Given the description of an element on the screen output the (x, y) to click on. 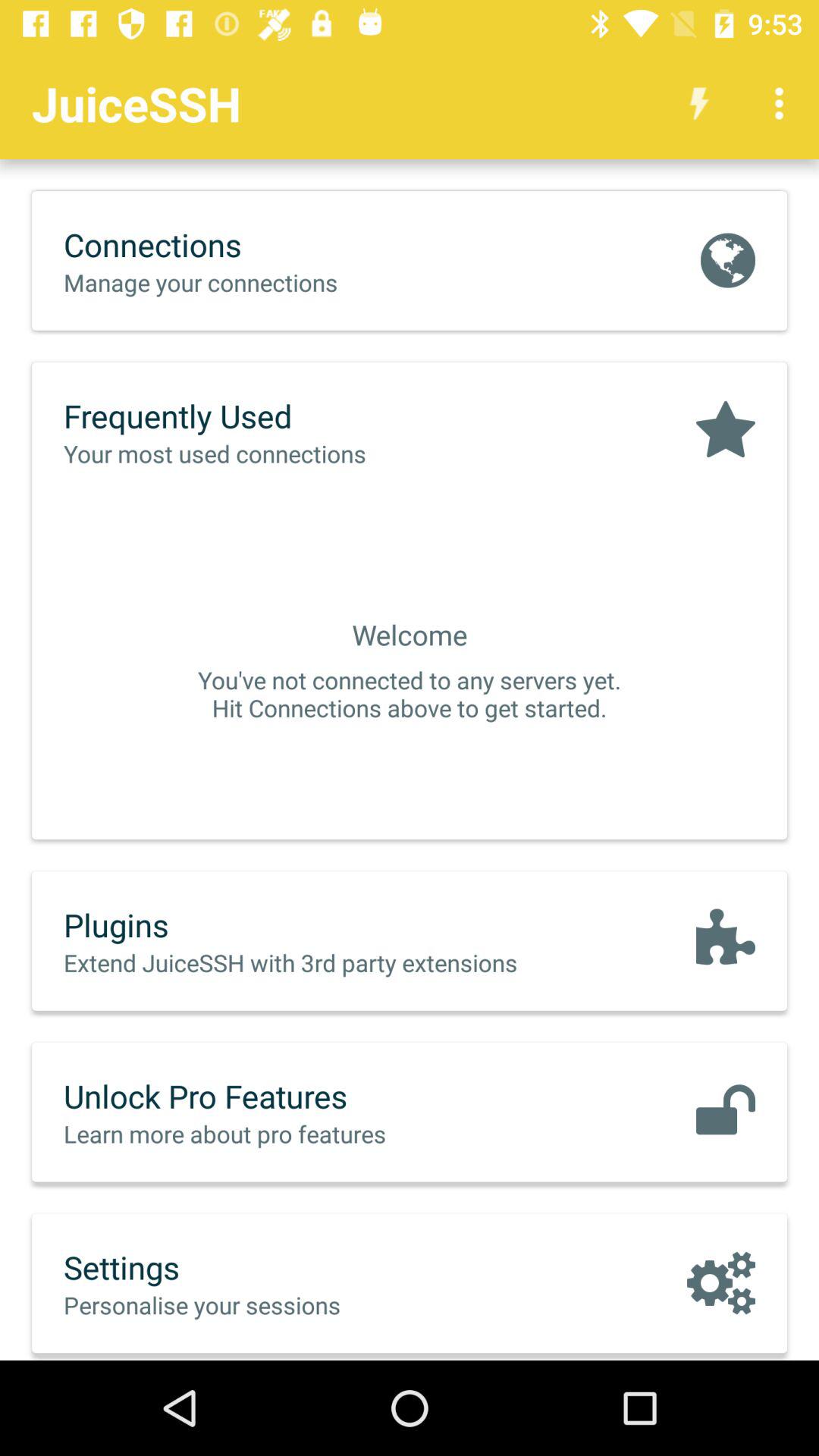
turn off frequently used (246, 415)
